Given the description of an element on the screen output the (x, y) to click on. 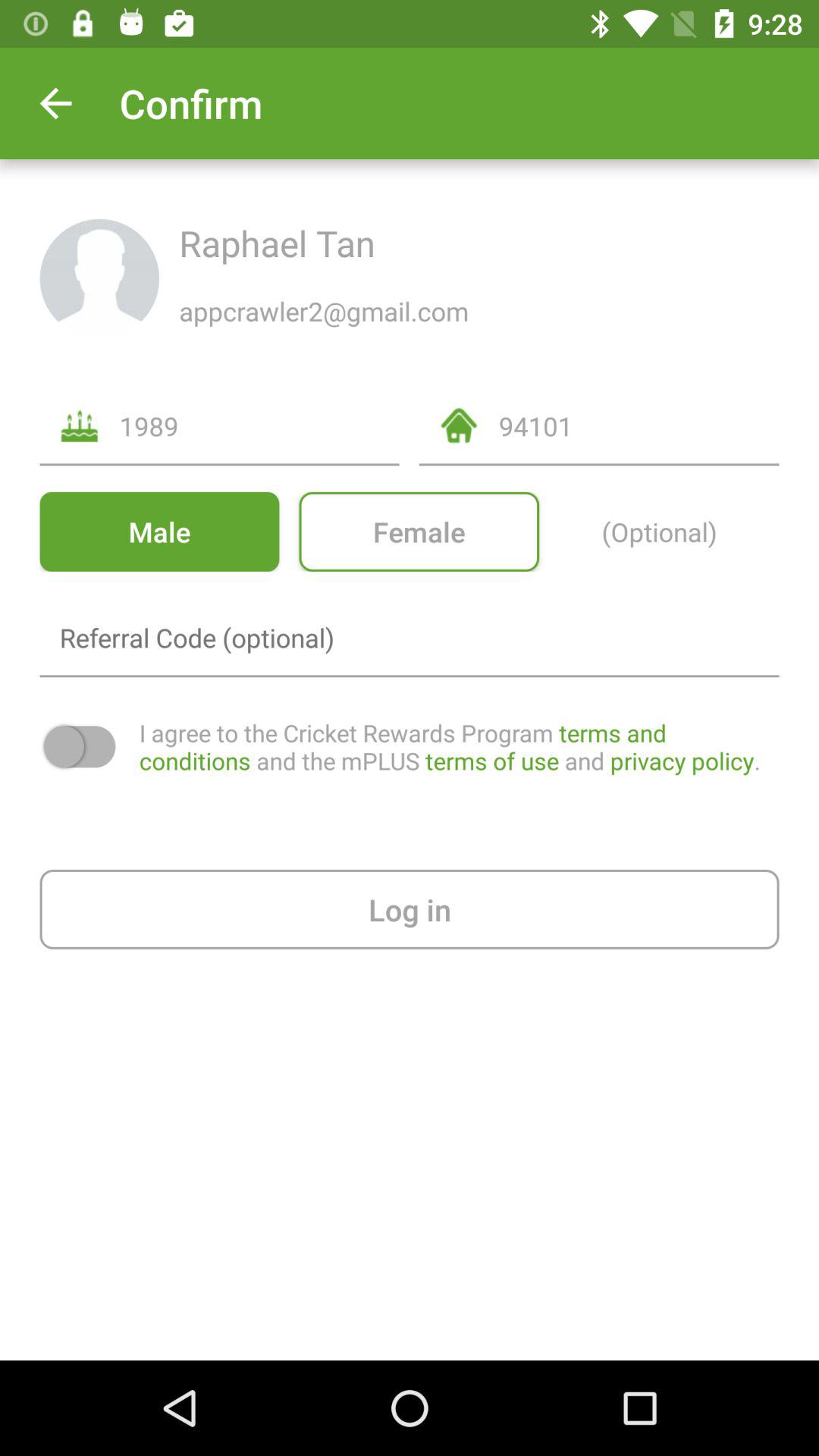
jump to the female item (419, 531)
